Given the description of an element on the screen output the (x, y) to click on. 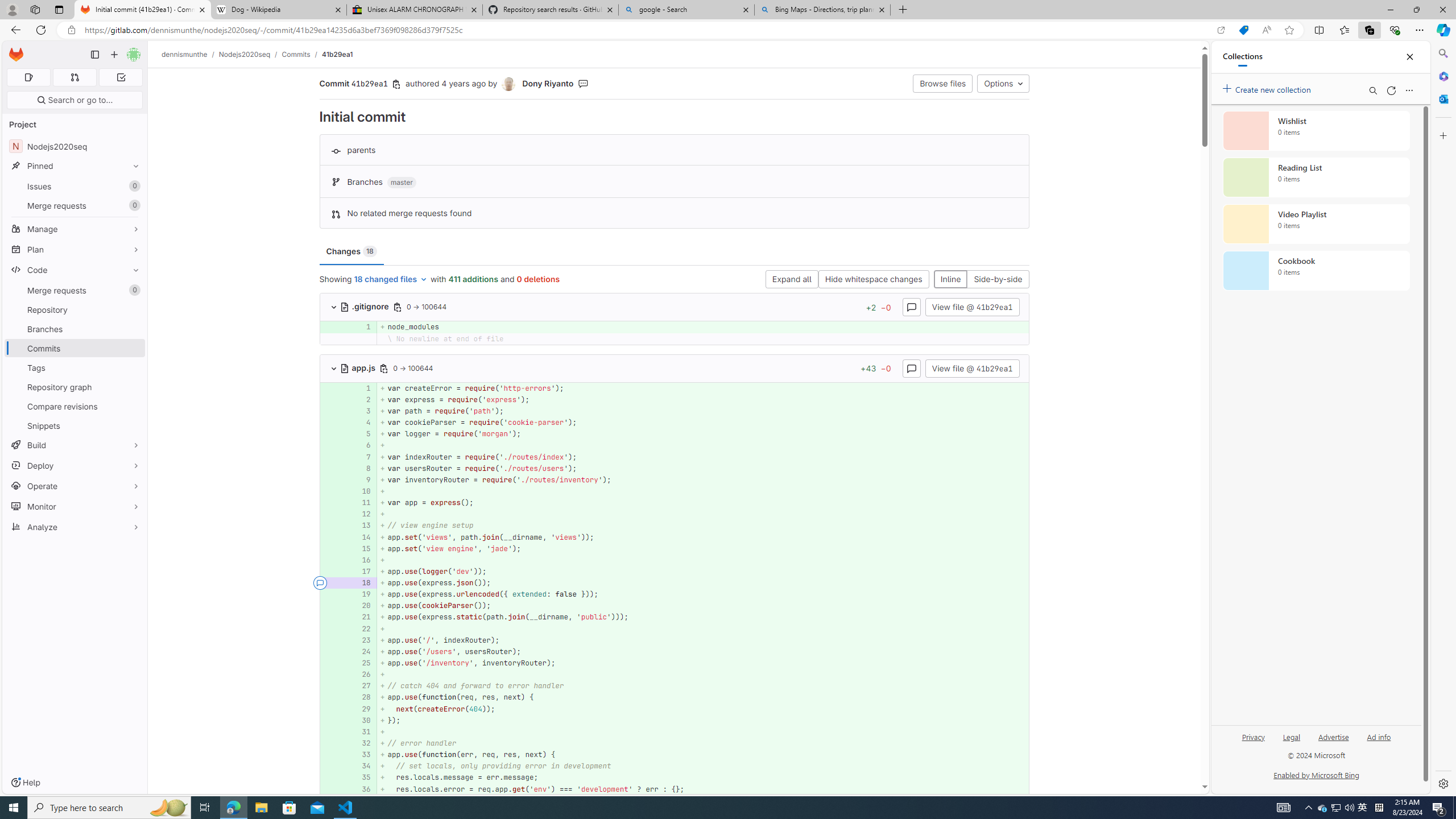
AutomationID: 4a68969ef8e858229267b842dedf42ab5dde4d50_0_14 (674, 536)
+ // error handler  (703, 743)
41b29ea1 (337, 53)
+ app.set('view engine', 'jade');  (703, 548)
+ app.use('/', indexRouter);  (703, 639)
AutomationID: 4a68969ef8e858229267b842dedf42ab5dde4d50_0_6 (674, 445)
15 (362, 548)
Options (1002, 83)
Legal (1291, 736)
Issues 0 (74, 185)
Pinned (74, 165)
33 (360, 754)
35 (362, 777)
+ app.use(express.static(path.join(__dirname, 'public')));  (703, 617)
12 (362, 514)
